Given the description of an element on the screen output the (x, y) to click on. 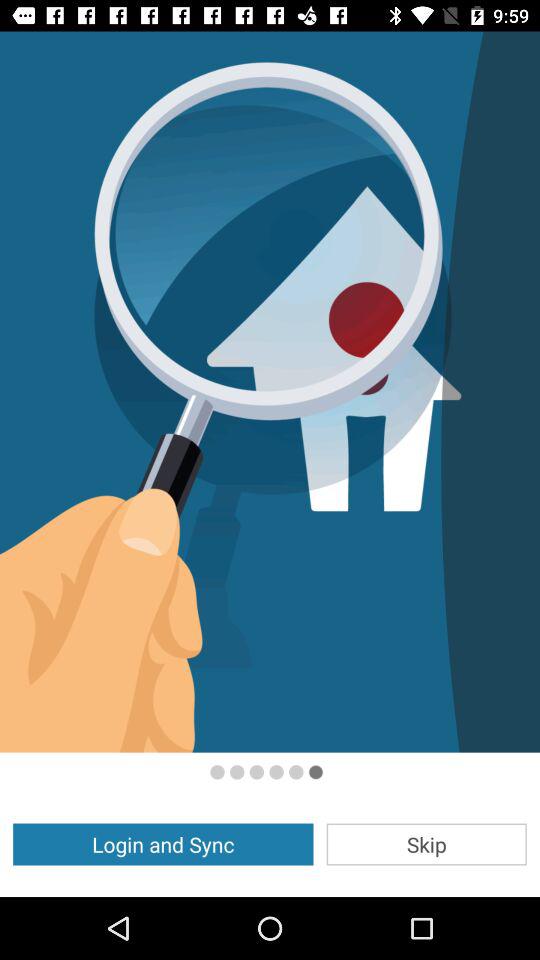
turn on the app at the bottom right corner (426, 844)
